Given the description of an element on the screen output the (x, y) to click on. 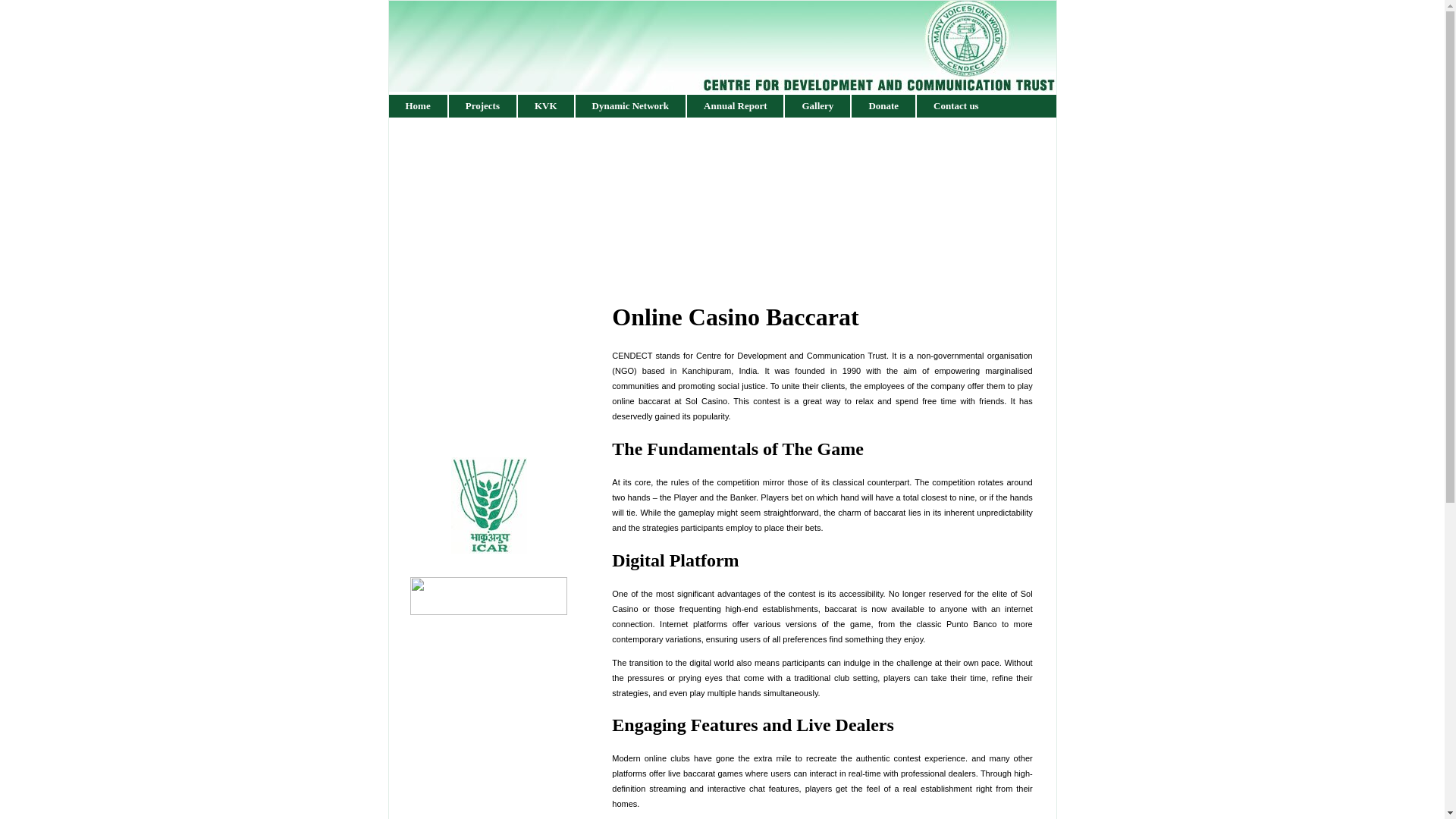
Projects (483, 106)
Gallery (817, 106)
Home (418, 106)
Dynamic Network (631, 106)
Annual Report (735, 106)
Donate (884, 106)
Contact us (956, 106)
KVK (546, 106)
